Given the description of an element on the screen output the (x, y) to click on. 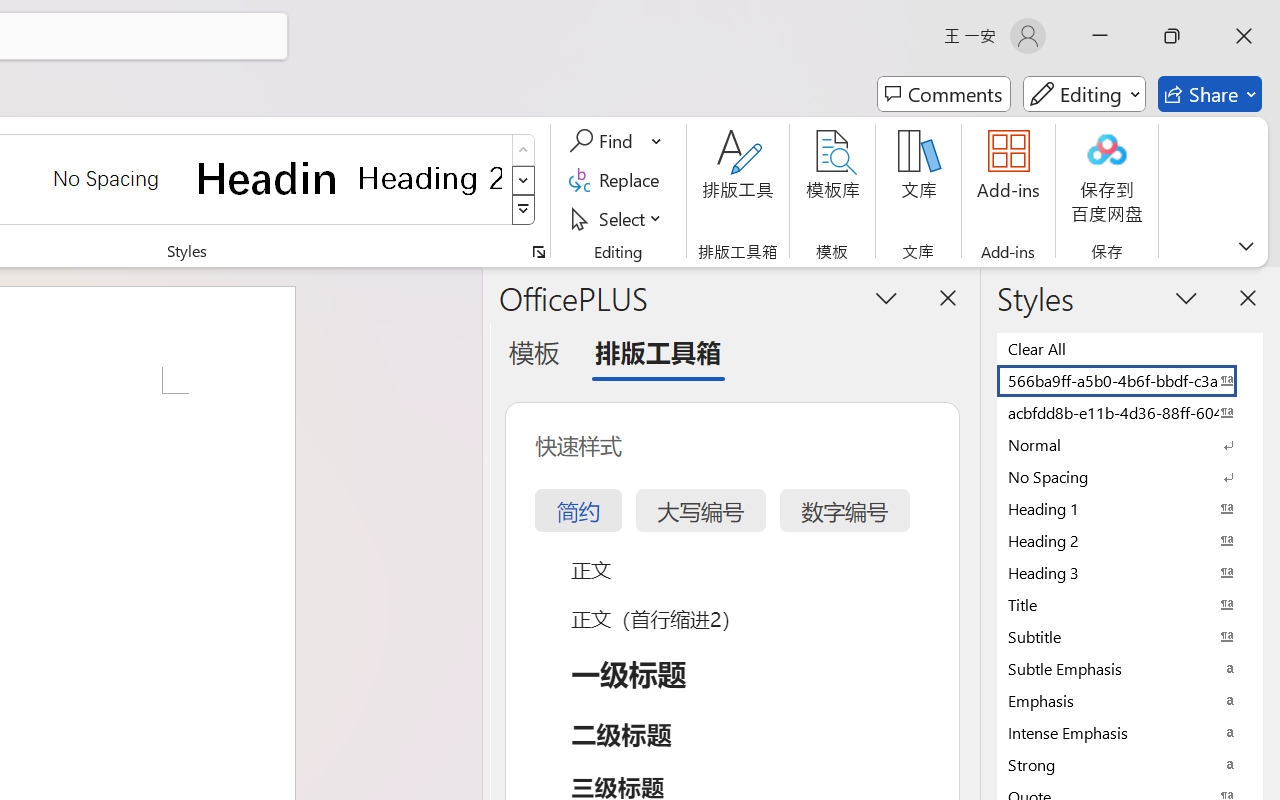
Subtle Emphasis (1130, 668)
Subtitle (1130, 636)
Share (1210, 94)
Find (616, 141)
acbfdd8b-e11b-4d36-88ff-6049b138f862 (1130, 412)
Title (1130, 604)
Emphasis (1130, 700)
